Given the description of an element on the screen output the (x, y) to click on. 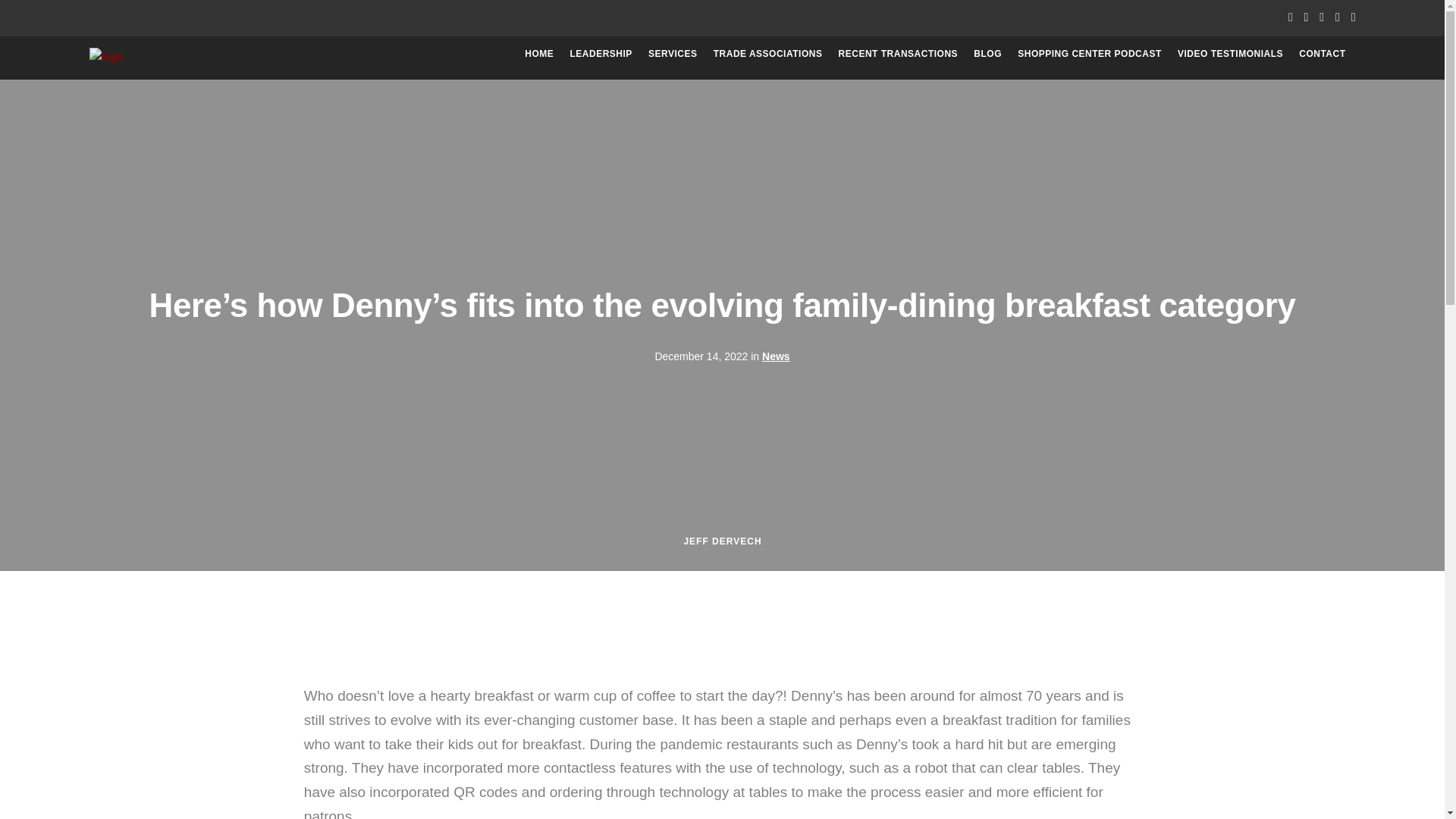
SERVICES (672, 53)
VIDEO TESTIMONIALS (1229, 53)
RECENT TRANSACTIONS (898, 53)
LEADERSHIP (600, 53)
CONTACT (1321, 53)
SHOPPING CENTER PODCAST (1089, 53)
HOME (538, 53)
TRADE ASSOCIATIONS (767, 53)
BLOG (987, 53)
News (775, 356)
